Given the description of an element on the screen output the (x, y) to click on. 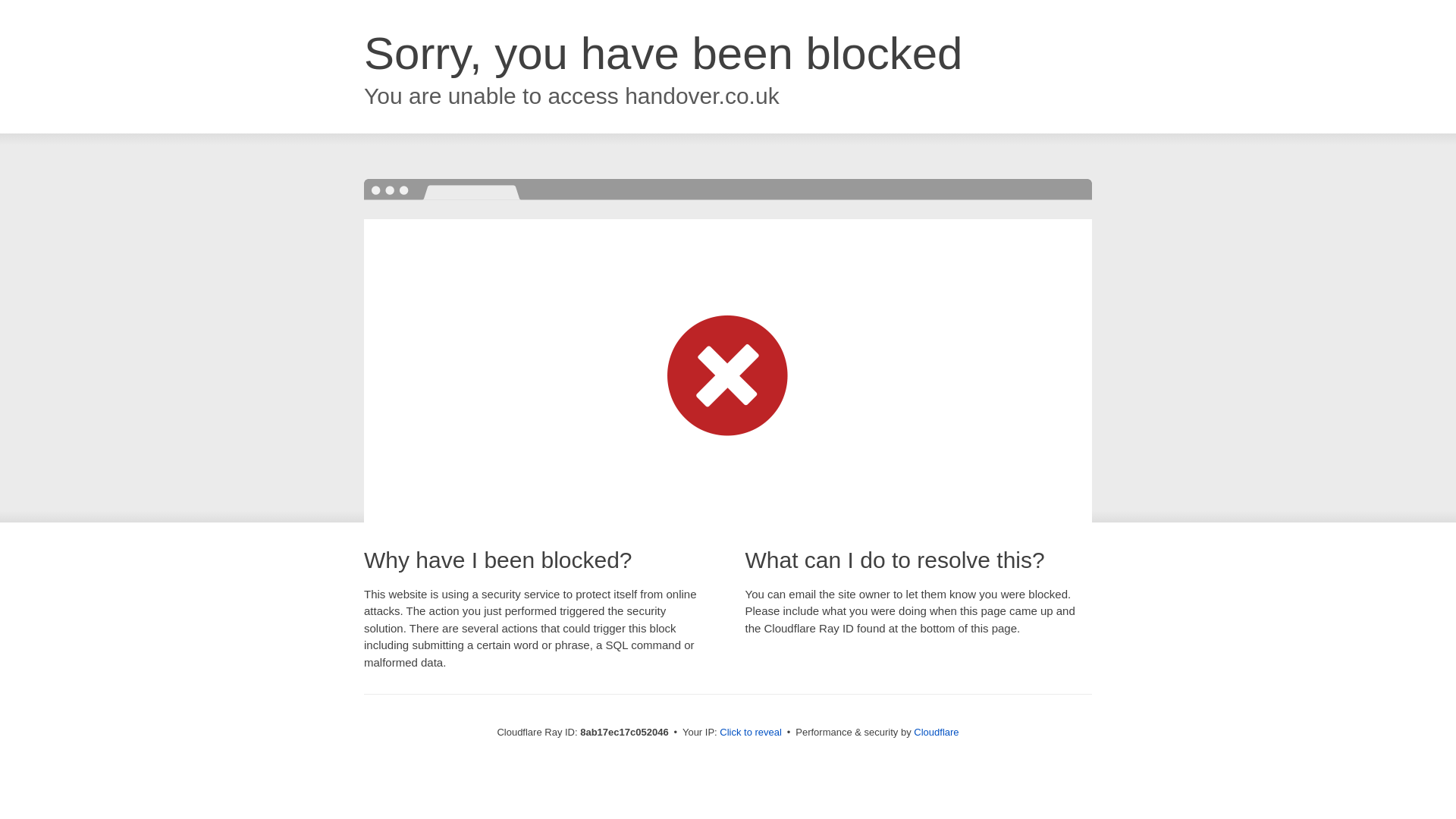
Click to reveal (750, 732)
Cloudflare (936, 731)
